Given the description of an element on the screen output the (x, y) to click on. 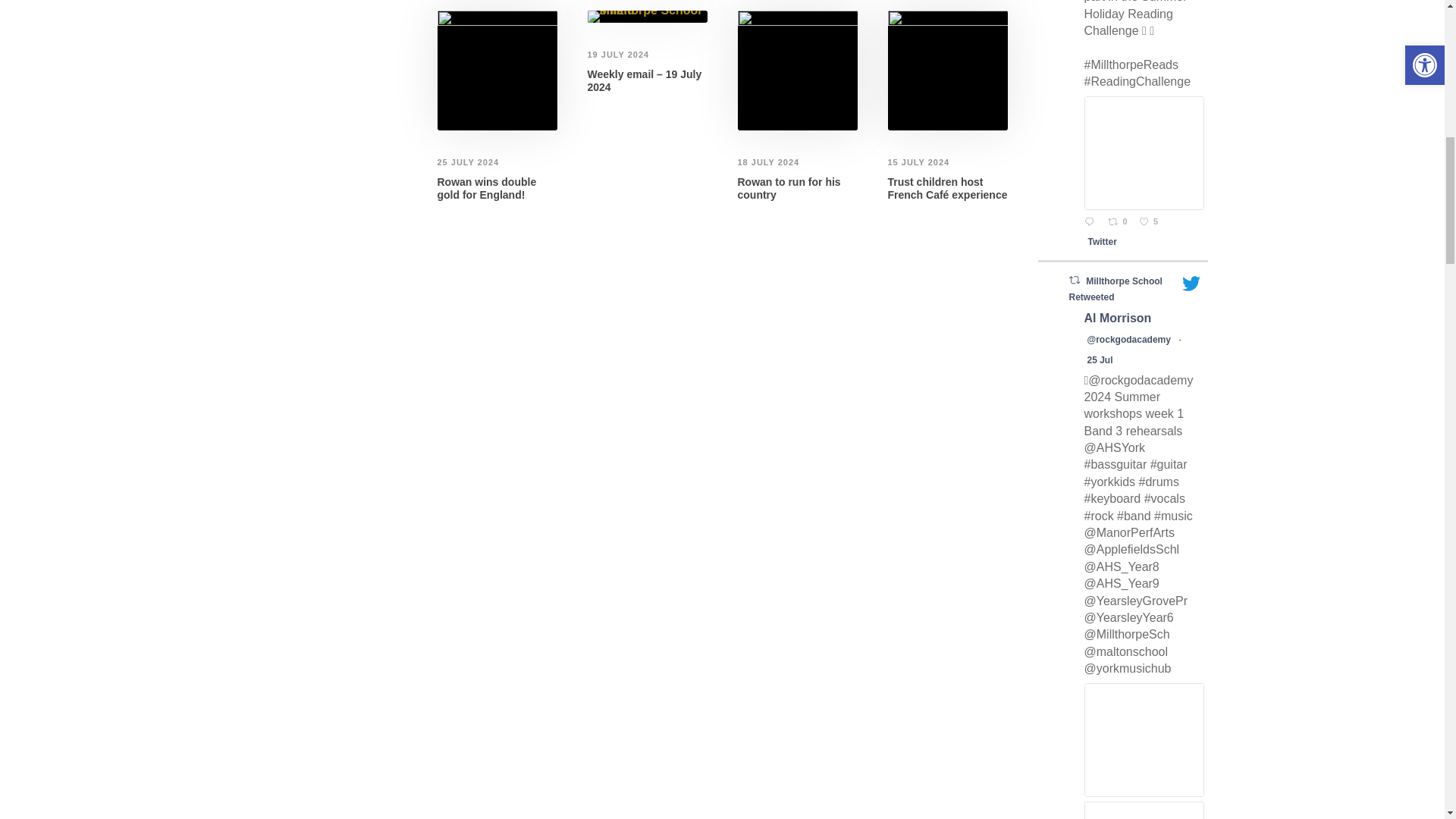
Millthorpe e-News WEB ICON (646, 16)
Rowan in the England travelling kit (796, 70)
